Given the description of an element on the screen output the (x, y) to click on. 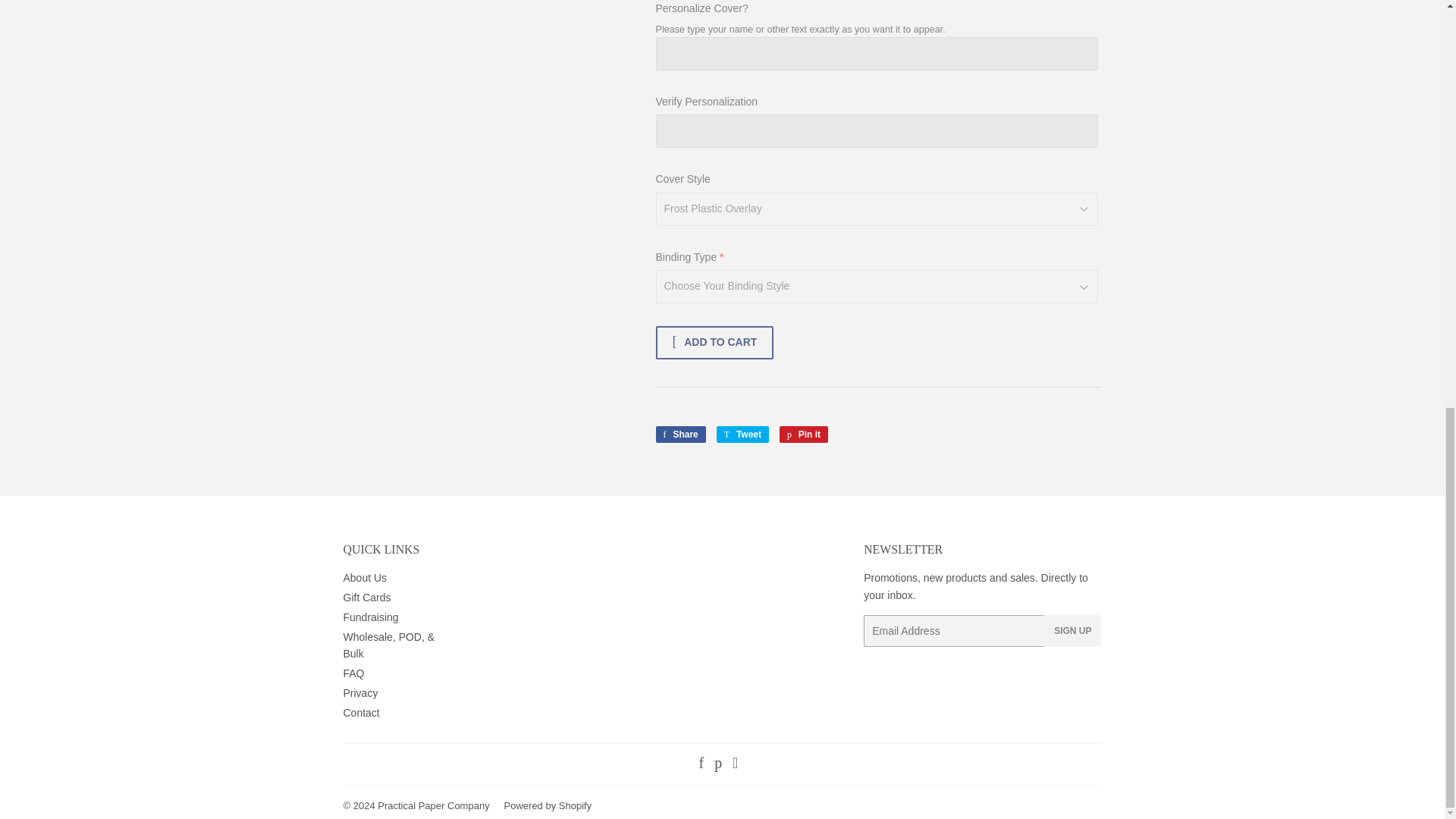
Pin on Pinterest (803, 434)
Tweet on Twitter (742, 434)
Share on Facebook (679, 434)
